Given the description of an element on the screen output the (x, y) to click on. 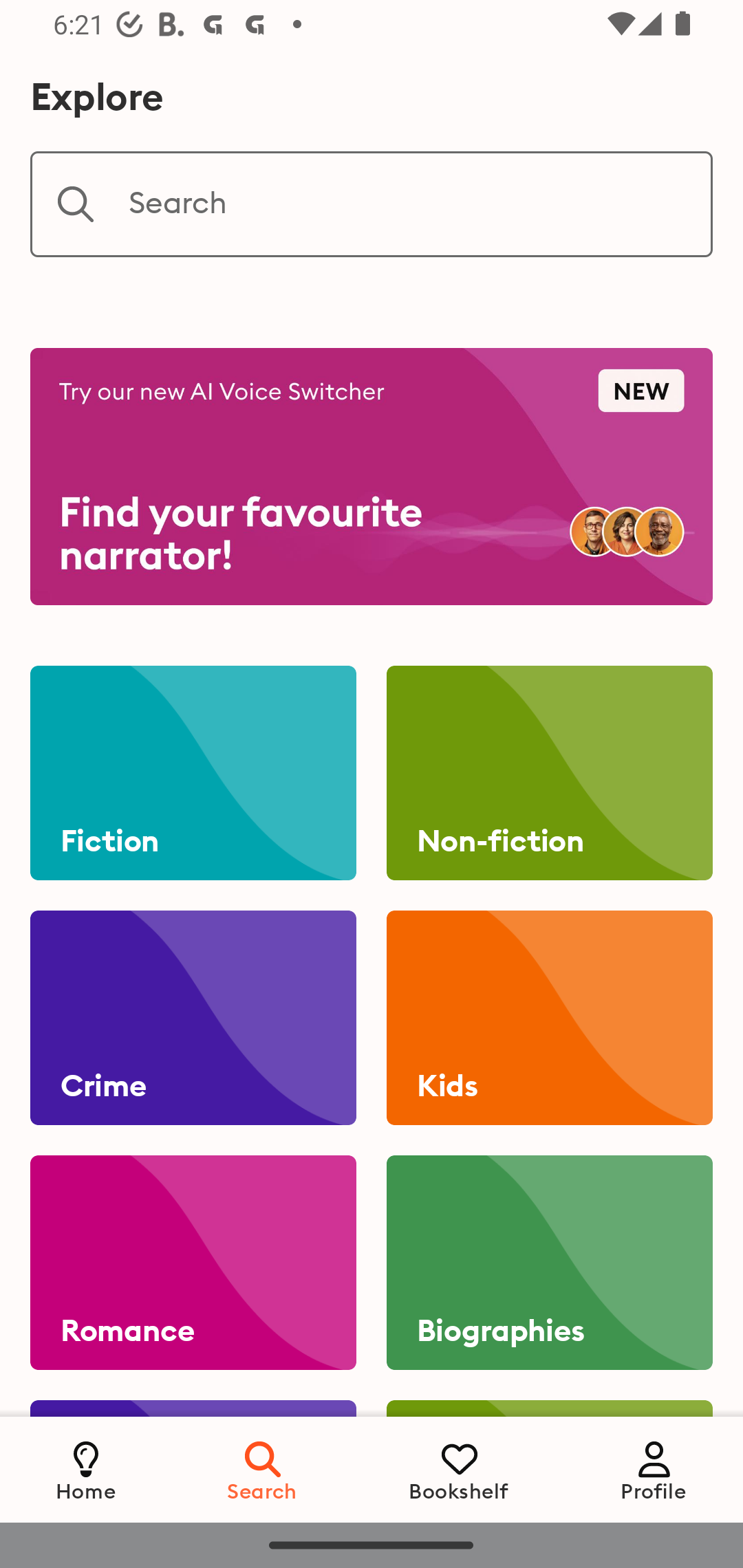
Search (371, 203)
Fiction (193, 772)
Non-fiction (549, 772)
Crime (193, 1018)
Kids (549, 1018)
Romance (193, 1262)
Biographies (549, 1262)
Home (85, 1468)
Search (262, 1468)
Bookshelf (458, 1468)
Profile (653, 1468)
